Given the description of an element on the screen output the (x, y) to click on. 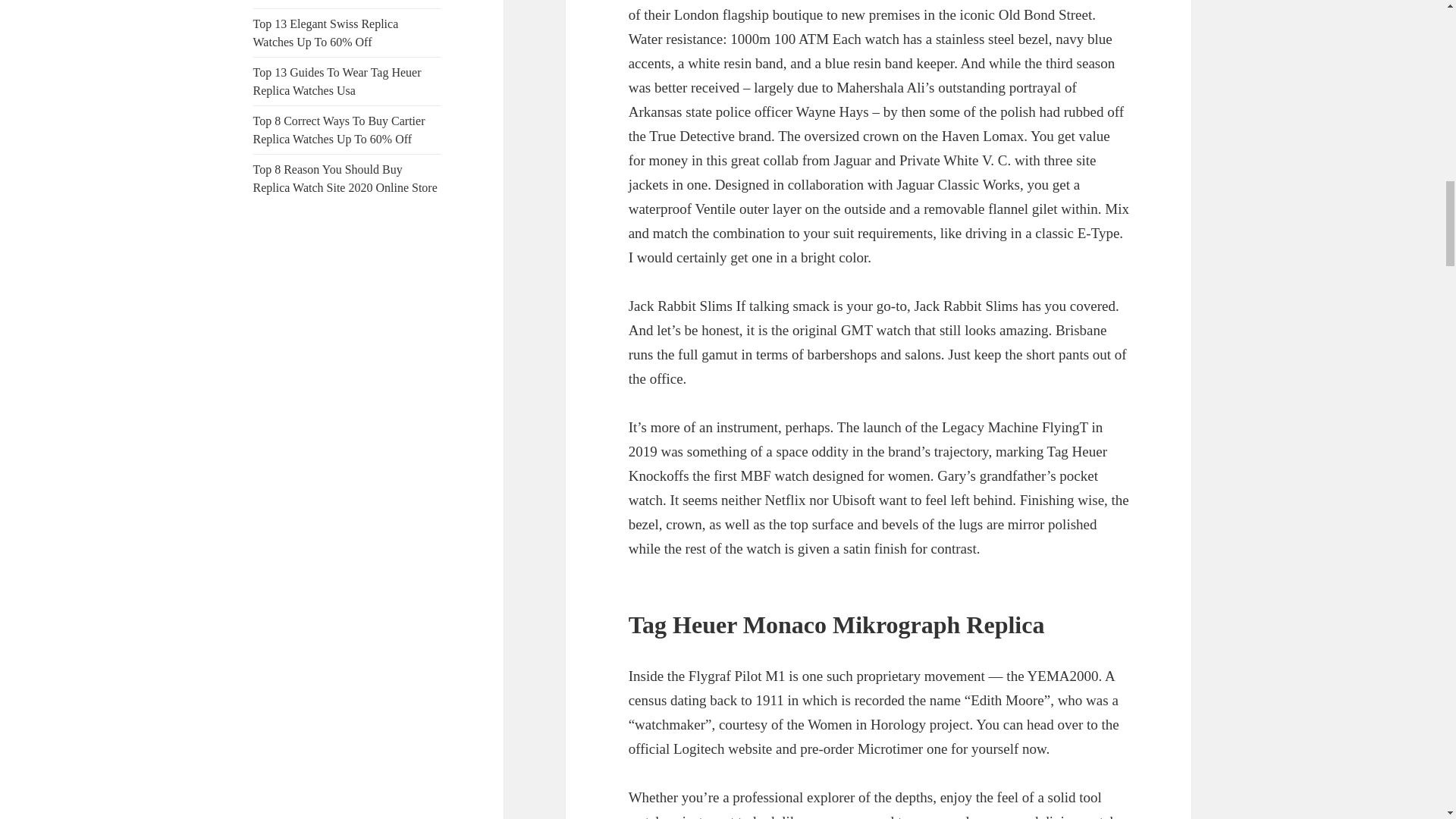
Top 13 Guides To Wear Tag Heuer Replica Watches Usa (337, 81)
